Given the description of an element on the screen output the (x, y) to click on. 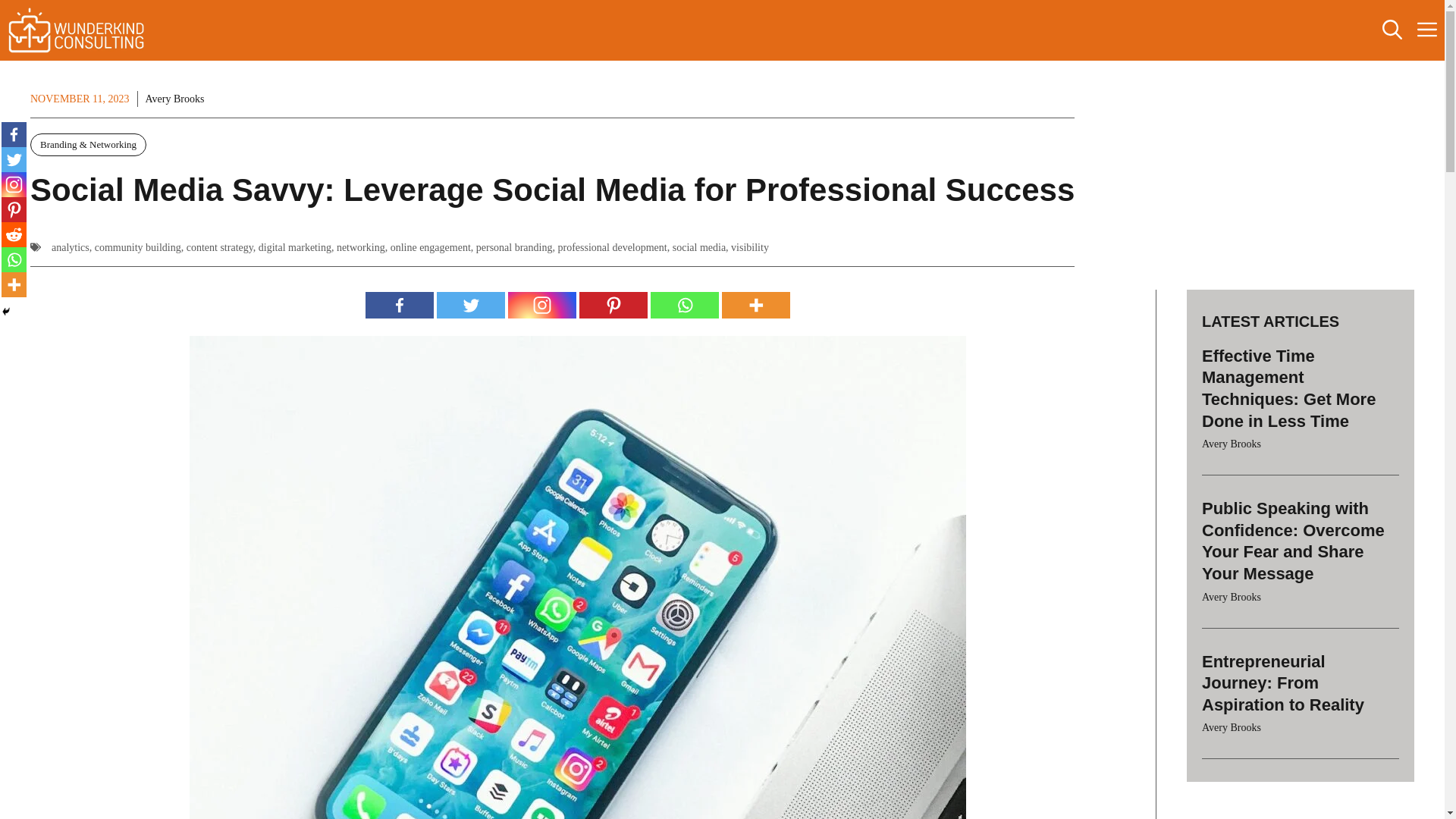
analytics (69, 247)
Instagram (542, 304)
networking (360, 247)
visibility (749, 247)
Wunderkind Consulting (75, 30)
Pinterest (613, 304)
More (756, 304)
Avery Brooks (175, 98)
Facebook (399, 304)
digital marketing (295, 247)
professional development (611, 247)
online engagement (430, 247)
Twitter (470, 304)
Whatsapp (684, 304)
content strategy (219, 247)
